Given the description of an element on the screen output the (x, y) to click on. 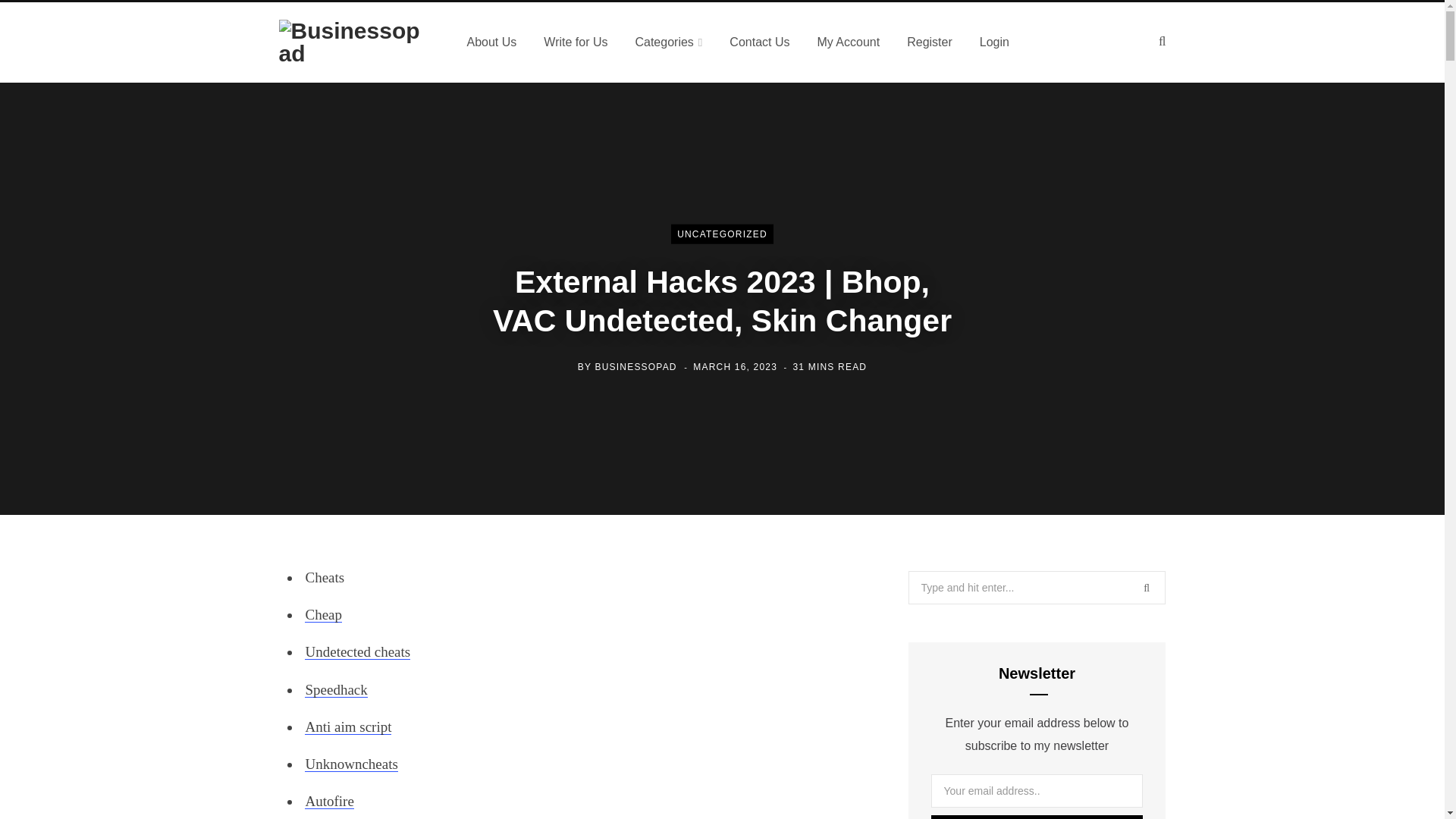
Speedhack (335, 689)
Cheap (323, 614)
Autofire (328, 801)
Categories (668, 41)
Unknowncheats (350, 763)
Businessopad (354, 42)
Anti aim script (347, 726)
Undetected cheats (357, 651)
Contact Us (759, 41)
My Account (848, 41)
About Us (491, 41)
Posts by businessopad (635, 366)
Login (994, 41)
Subscribe (1036, 816)
Write for Us (575, 41)
